Given the description of an element on the screen output the (x, y) to click on. 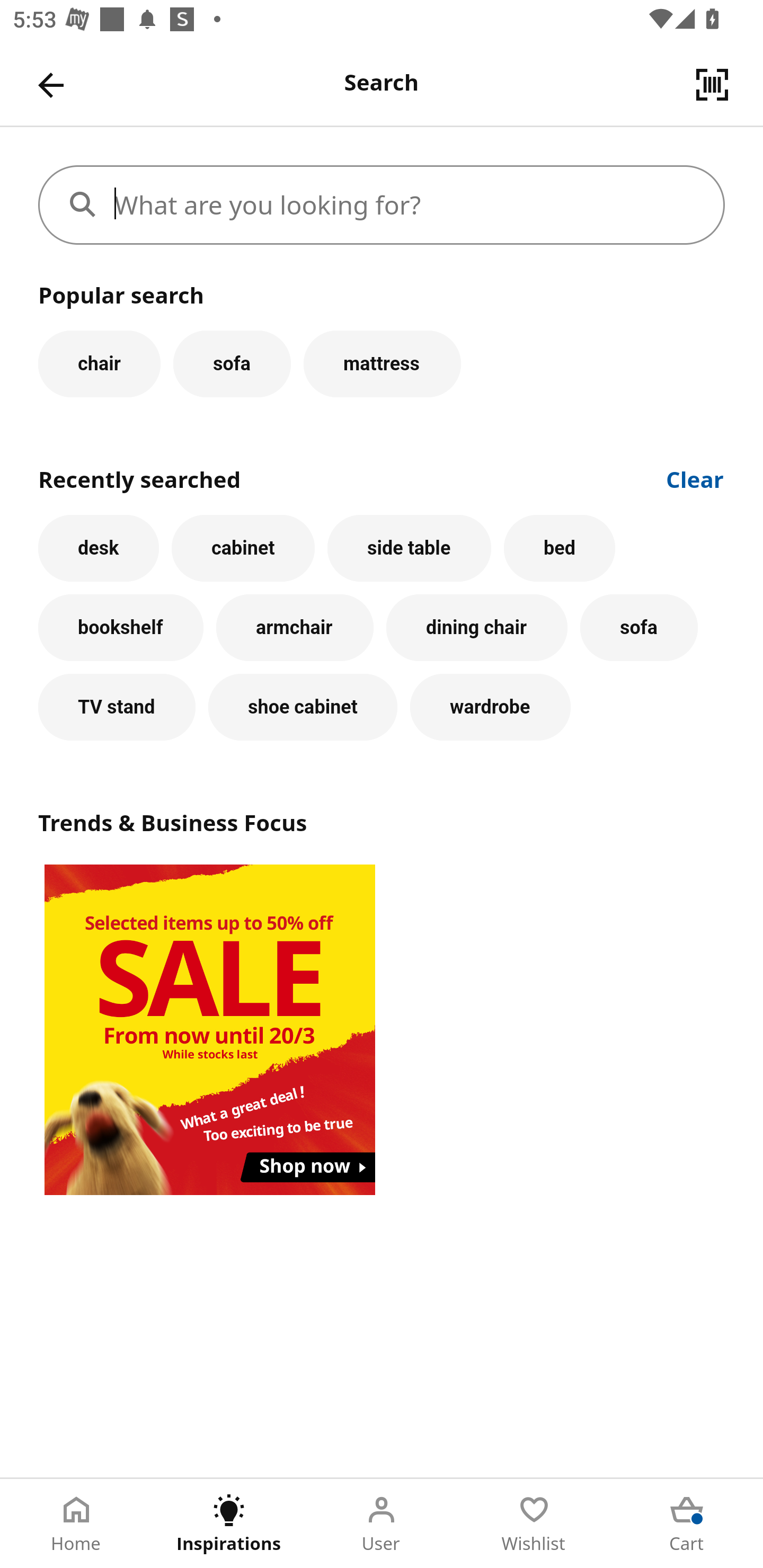
chair (99, 363)
sofa (231, 363)
mattress (381, 363)
Clear (695, 477)
desk (98, 547)
cabinet (242, 547)
side table (409, 547)
bed (558, 547)
bookshelf (120, 627)
armchair (294, 627)
dining chair (476, 627)
sofa (638, 627)
TV stand (116, 707)
shoe cabinet (302, 707)
wardrobe (490, 707)
Home
Tab 1 of 5 (76, 1522)
Inspirations
Tab 2 of 5 (228, 1522)
User
Tab 3 of 5 (381, 1522)
Wishlist
Tab 4 of 5 (533, 1522)
Cart
Tab 5 of 5 (686, 1522)
